Given the description of an element on the screen output the (x, y) to click on. 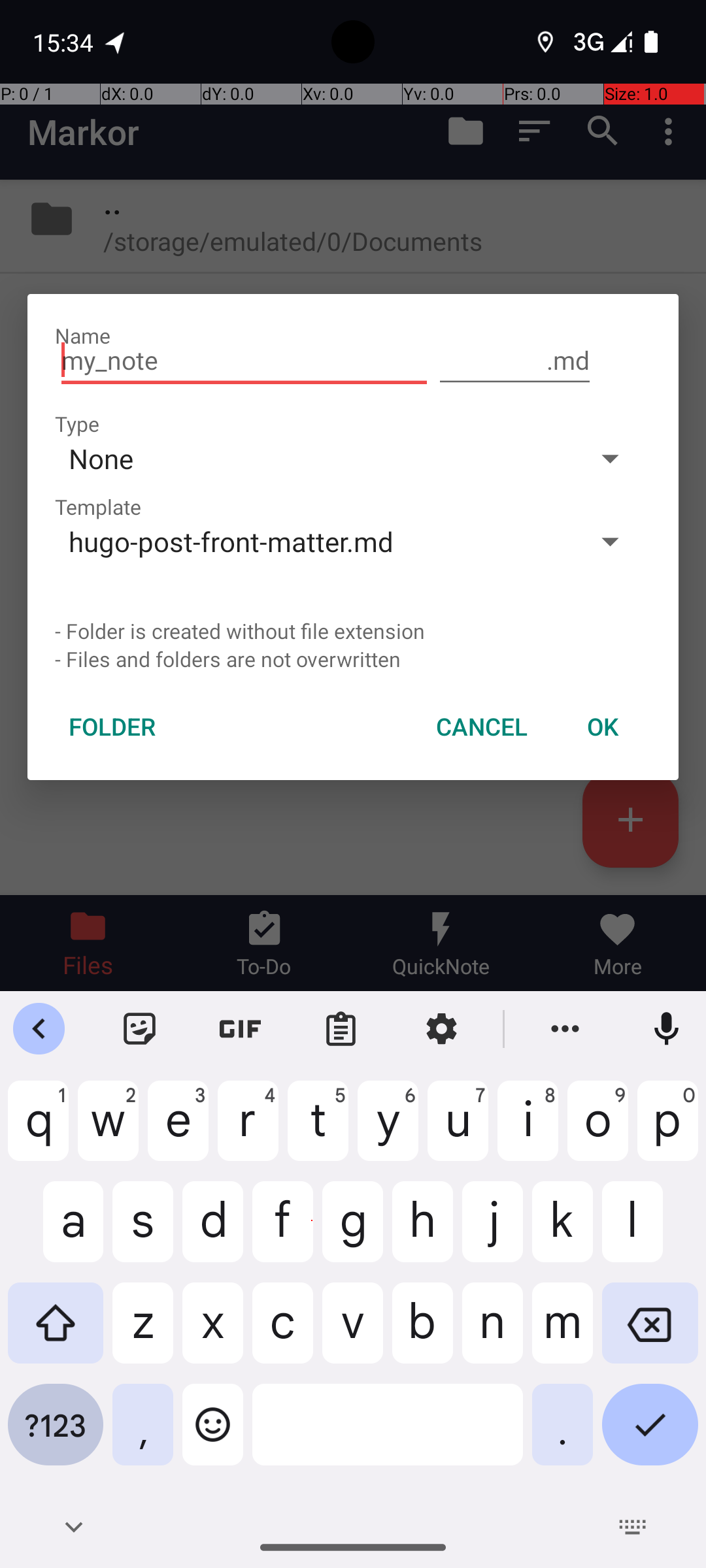
.md Element type: android.widget.EditText (514, 360)
None Element type: android.widget.TextView (311, 457)
hugo-post-front-matter.md Element type: android.widget.TextView (311, 540)
